Given the description of an element on the screen output the (x, y) to click on. 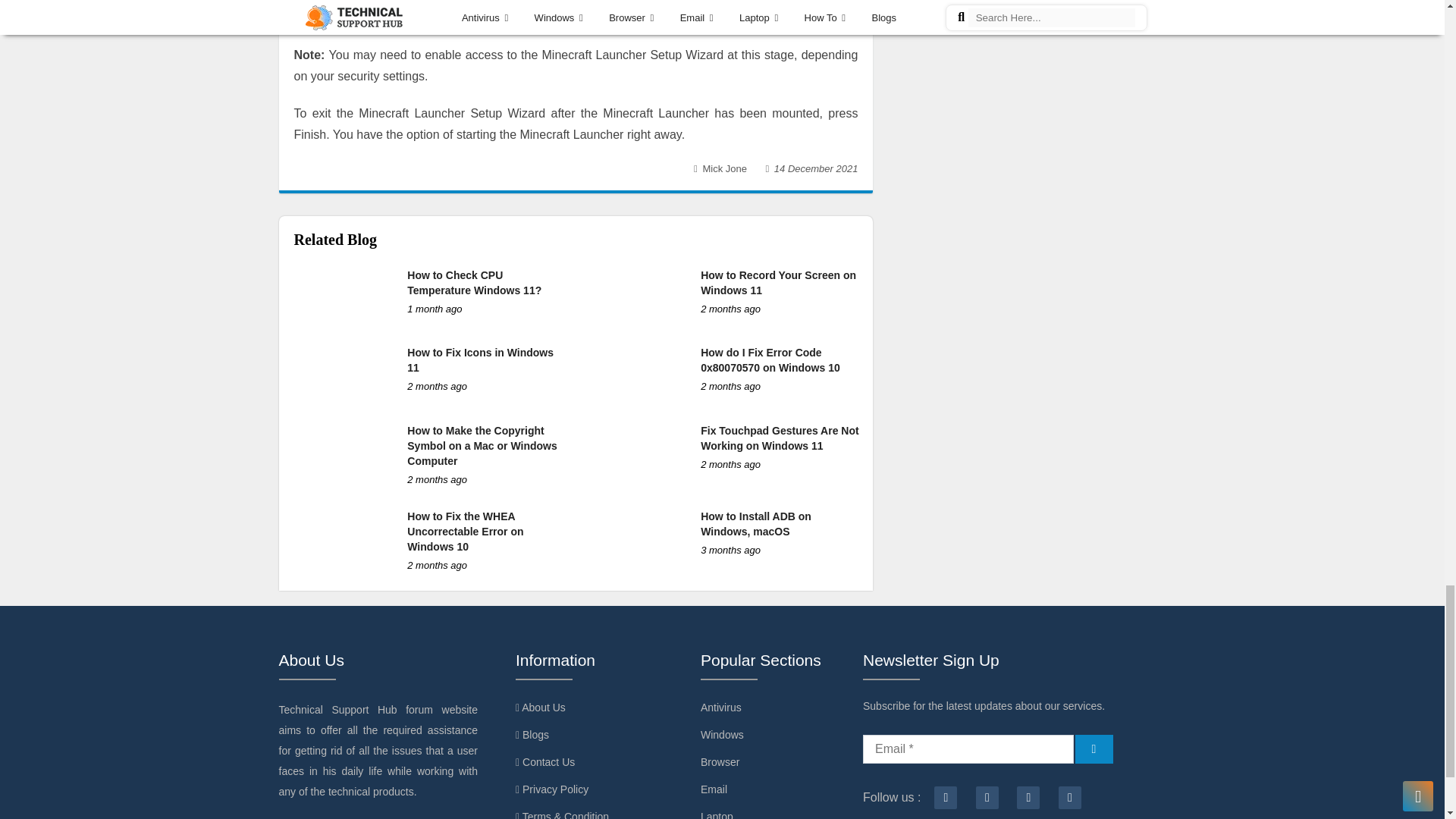
Fix Touchpad Gestures Are Not Working on Windows 11 (779, 438)
How to Install ADB on Windows, macOS (755, 523)
How to Check CPU Temperature Windows 11? (474, 282)
How to Fix the WHEA Uncorrectable Error on Windows 10 (464, 531)
How to Record Your Screen on Windows 11 (778, 282)
How do I Fix Error Code 0x80070570 on Windows 10 (770, 359)
How to Fix Icons in Windows 11 (480, 359)
